Given the description of an element on the screen output the (x, y) to click on. 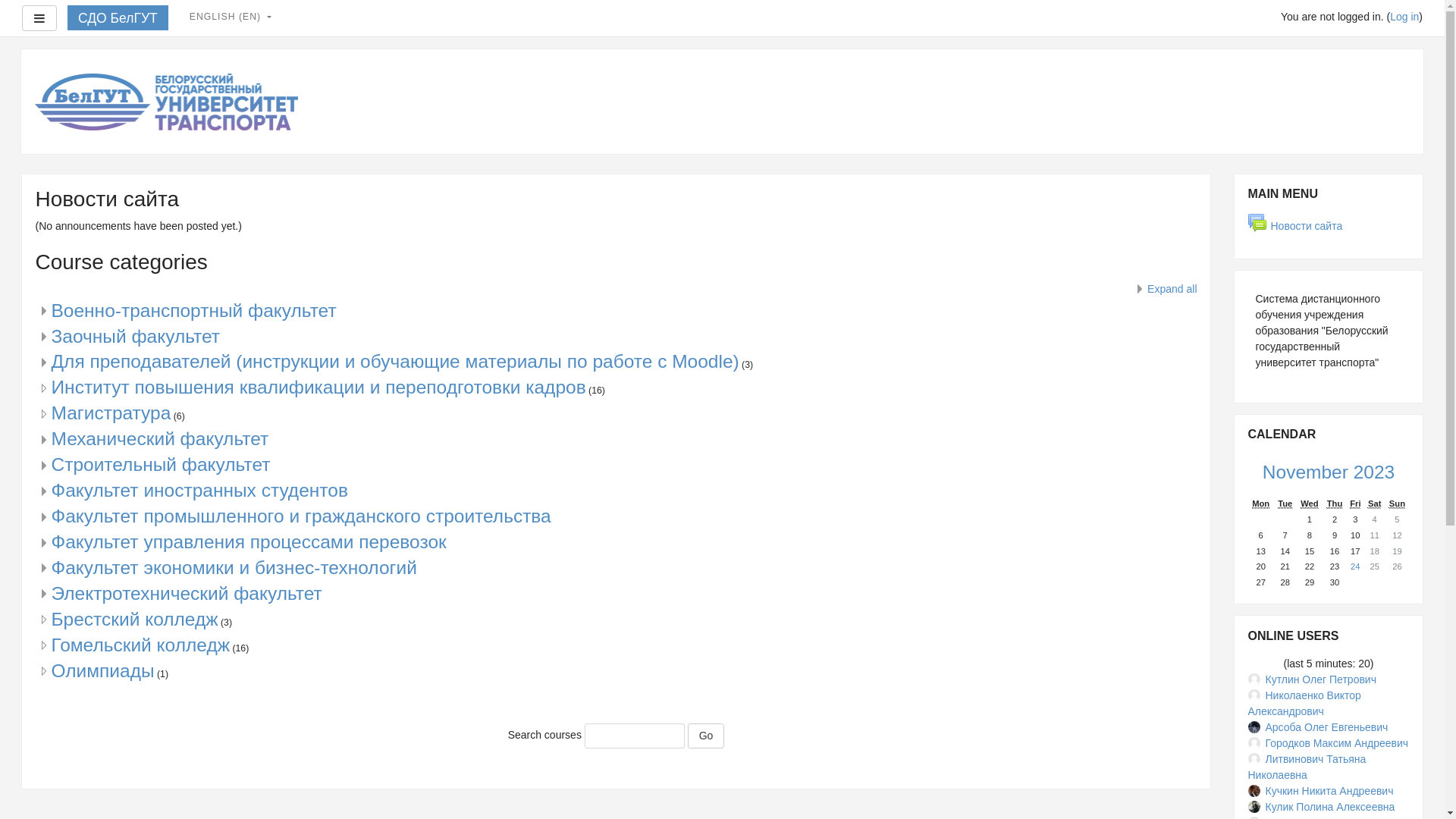
Expand all Element type: text (1164, 288)
Skip Main menu Element type: text (1233, 172)
Log in Element type: text (1404, 16)
24 Element type: text (1355, 566)
Skip Calendar Element type: text (1233, 413)
November 2023 Element type: text (1328, 471)
Side panel Element type: text (38, 18)
Go Element type: text (705, 736)
Skip Online users Element type: text (1233, 614)
ENGLISH (EN) Element type: text (230, 16)
